Given the description of an element on the screen output the (x, y) to click on. 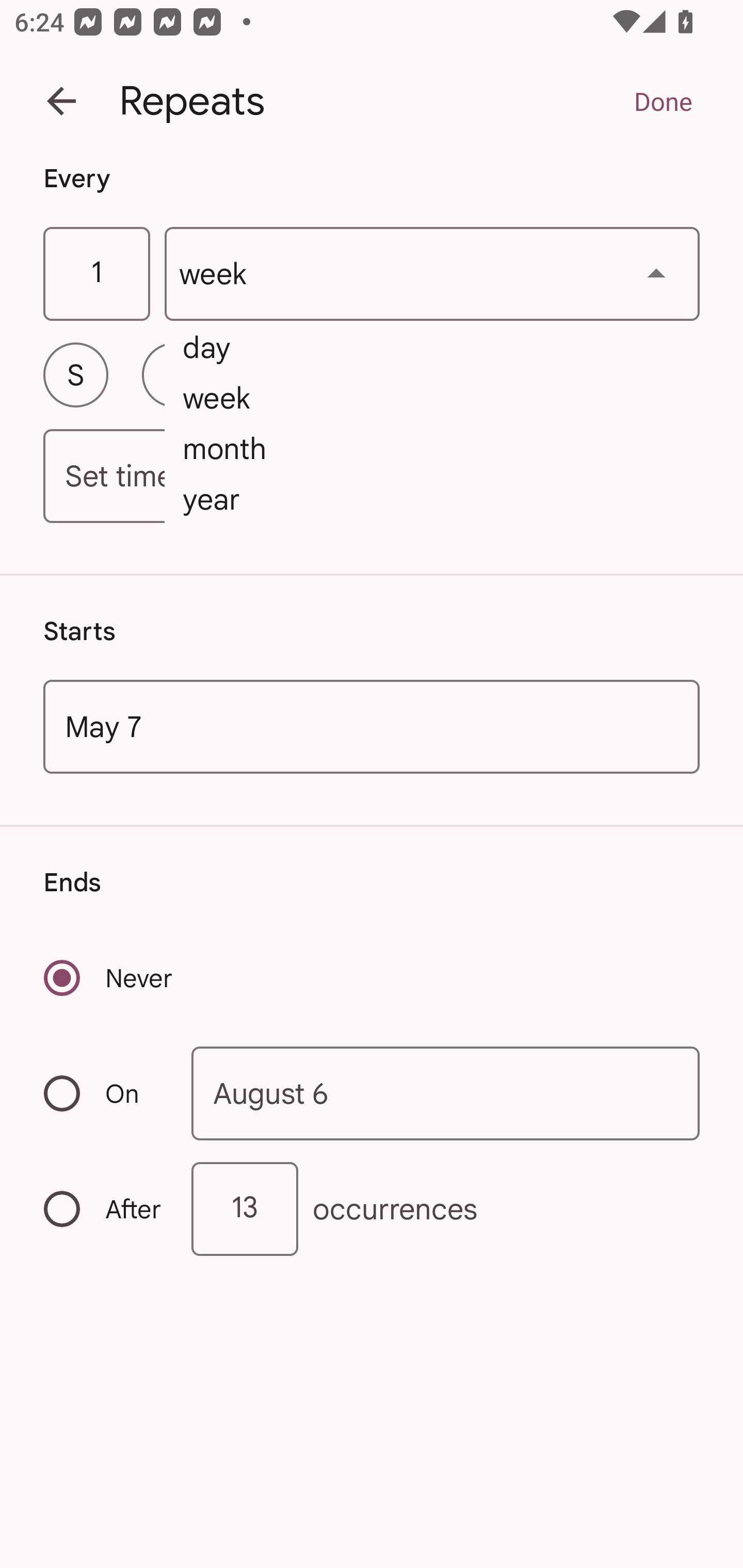
Back (61, 101)
Done (663, 101)
1 (96, 274)
week (431, 274)
Show dropdown menu (655, 273)
S Sunday (75, 374)
Set time (371, 476)
May 7 (371, 726)
Never Recurrence never ends (109, 978)
August 6 (445, 1092)
On Recurrence ends on a specific date (104, 1093)
13 (244, 1208)
